Given the description of an element on the screen output the (x, y) to click on. 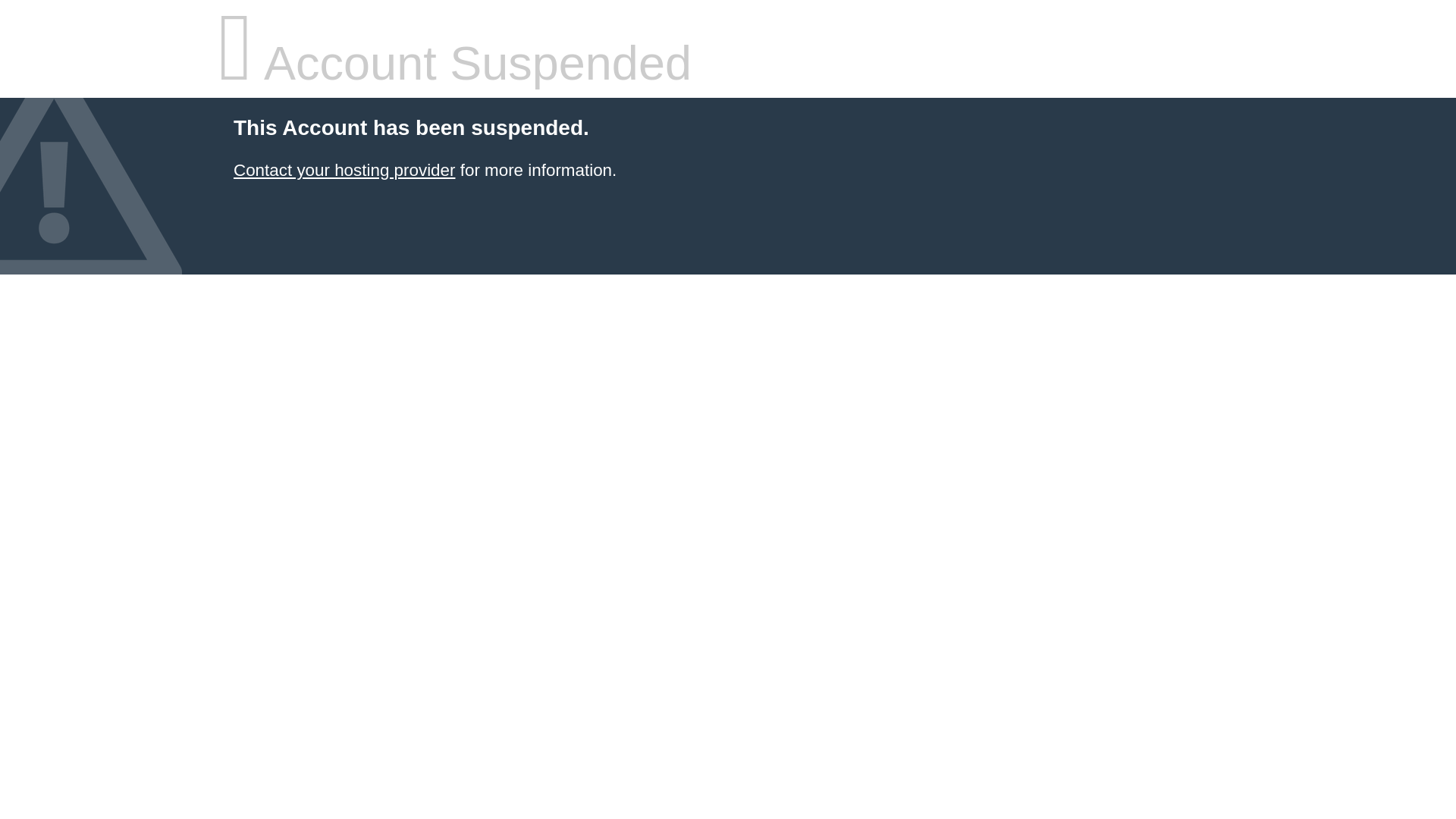
Contact your hosting provider (343, 169)
